Given the description of an element on the screen output the (x, y) to click on. 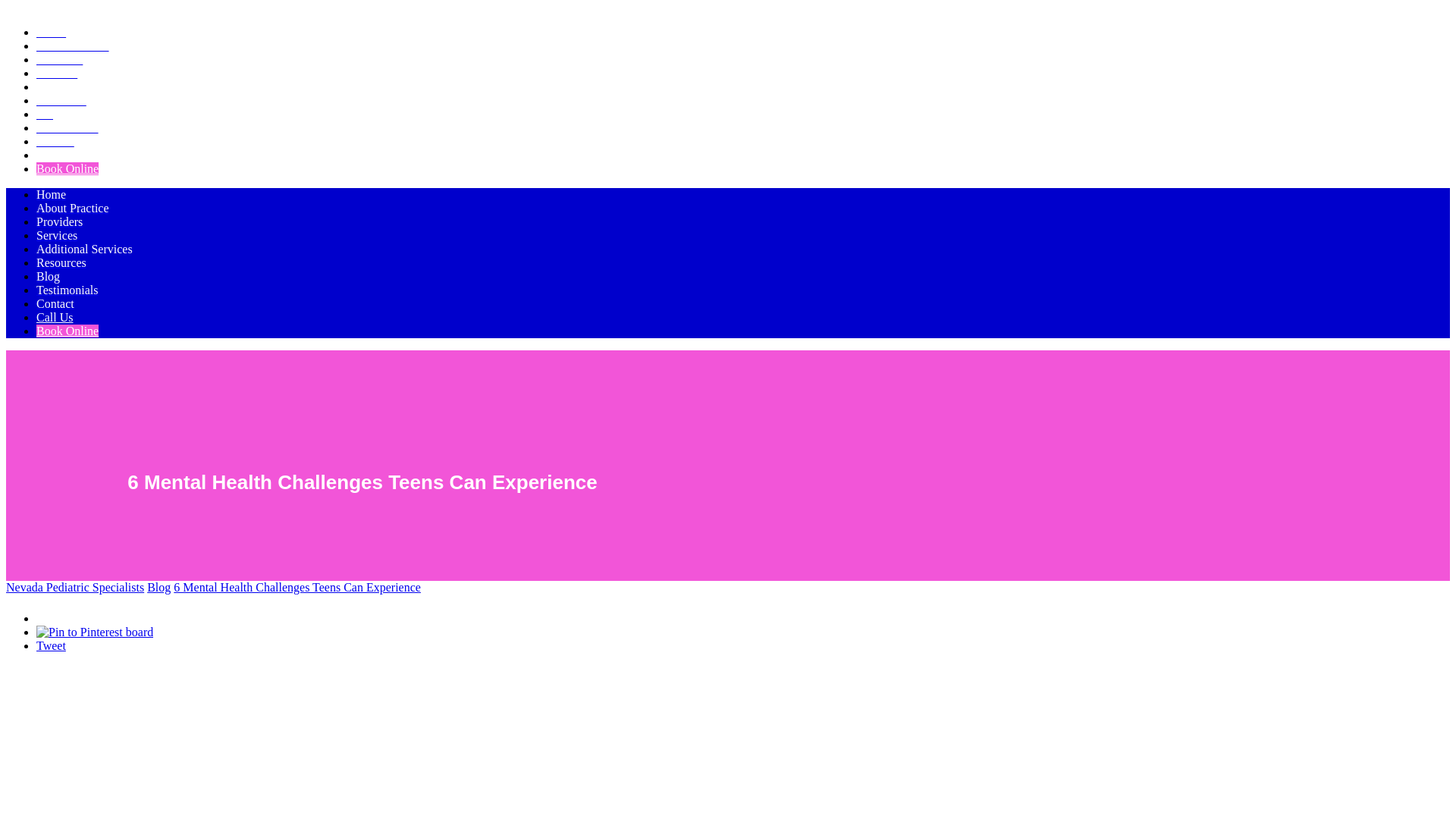
Resources (60, 100)
Home (50, 194)
Blog (47, 113)
Testimonials (67, 127)
Call Us (54, 154)
Services (56, 235)
Contact (55, 141)
Home (50, 31)
Book Online (67, 168)
